Given the description of an element on the screen output the (x, y) to click on. 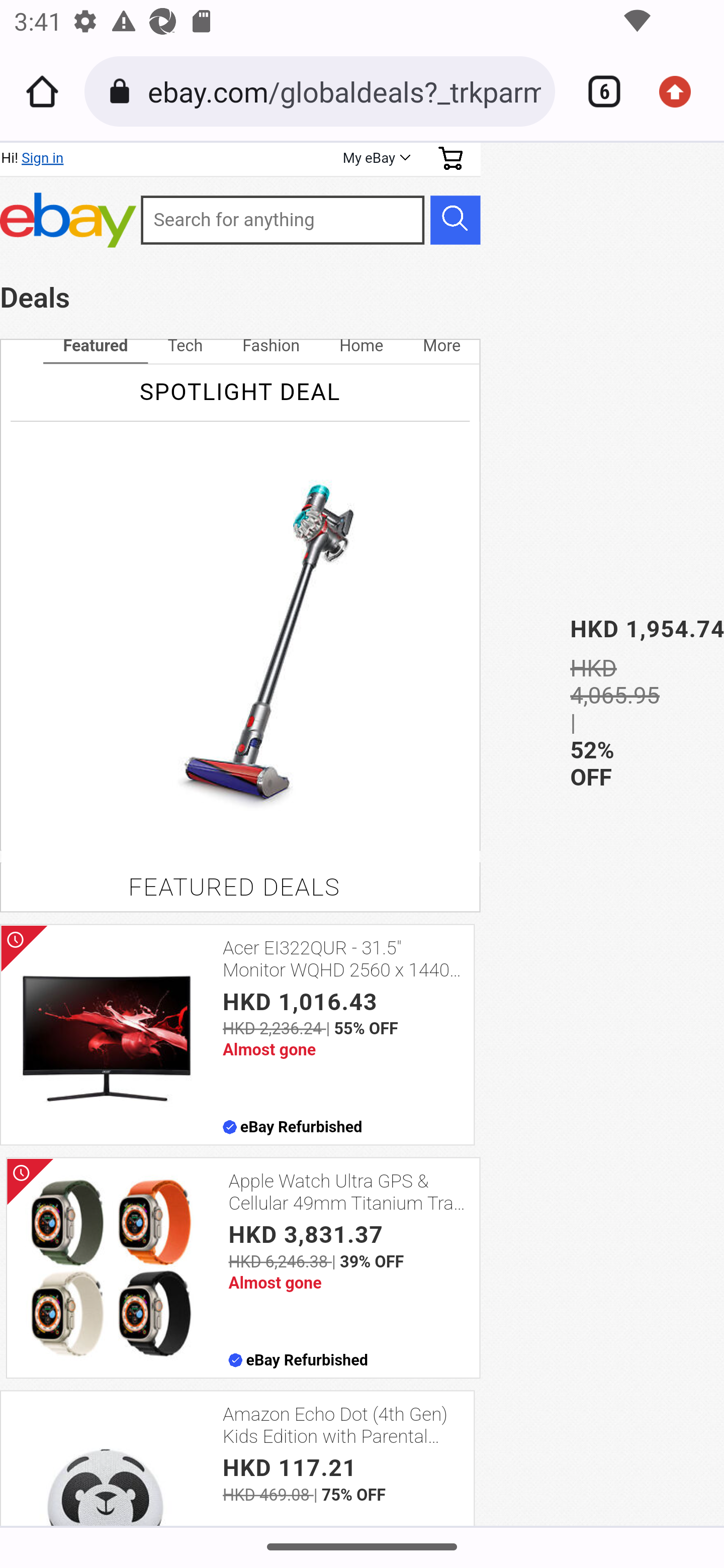
Home (42, 91)
Connection is secure (122, 91)
Switch or close tabs (597, 91)
Update available. More options (681, 91)
Your shopping cart (450, 158)
My eBay (375, 158)
Sign in (41, 157)
eBay Home (68, 220)
Search (454, 219)
Deals (35, 297)
Featured Current View Featured (94, 345)
Tech (184, 345)
Fashion (270, 345)
Home (361, 345)
More (441, 345)
